Given the description of an element on the screen output the (x, y) to click on. 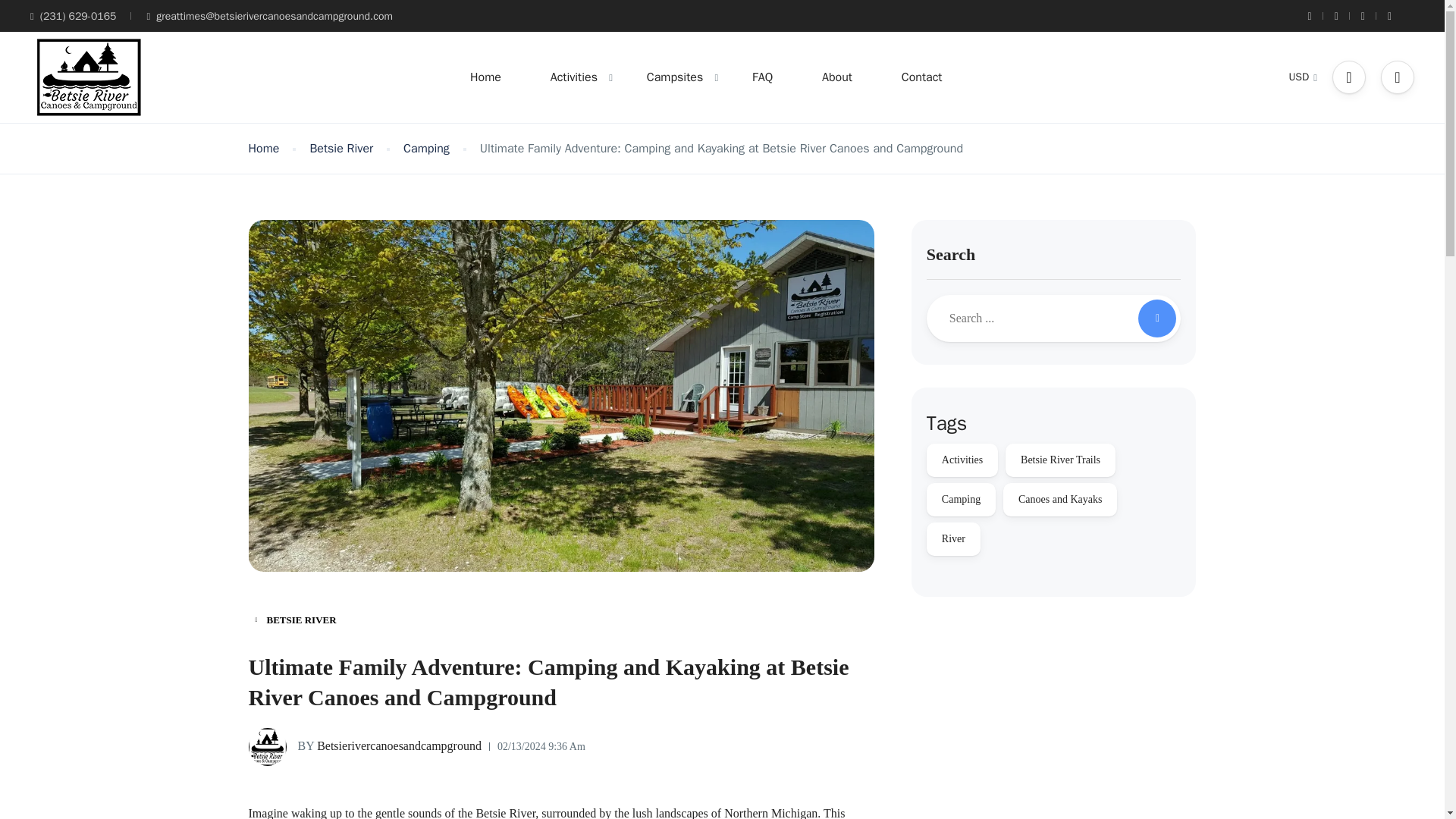
BY Betsierivercanoesandcampground (364, 746)
Campsites (674, 77)
Contact (922, 77)
FAQ (761, 77)
USD (1302, 77)
Activities (573, 77)
Home (485, 77)
Betsie River (340, 148)
Camping (426, 148)
About (837, 77)
Home (263, 148)
BETSIE RIVER (295, 619)
